Given the description of an element on the screen output the (x, y) to click on. 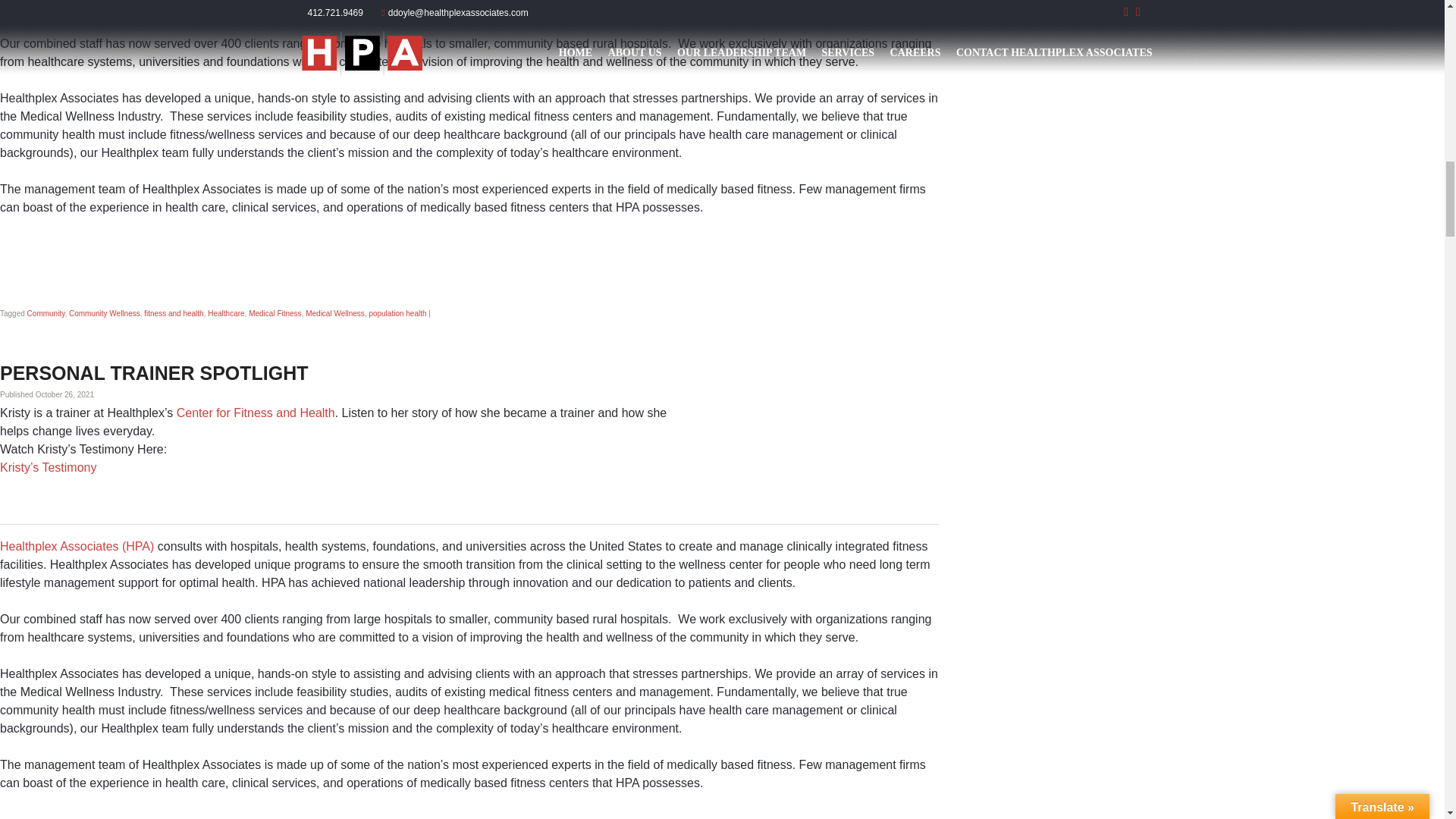
Community Wellness (103, 313)
Permalink to Personal Trainer Spotlight (154, 373)
Community (46, 313)
